Given the description of an element on the screen output the (x, y) to click on. 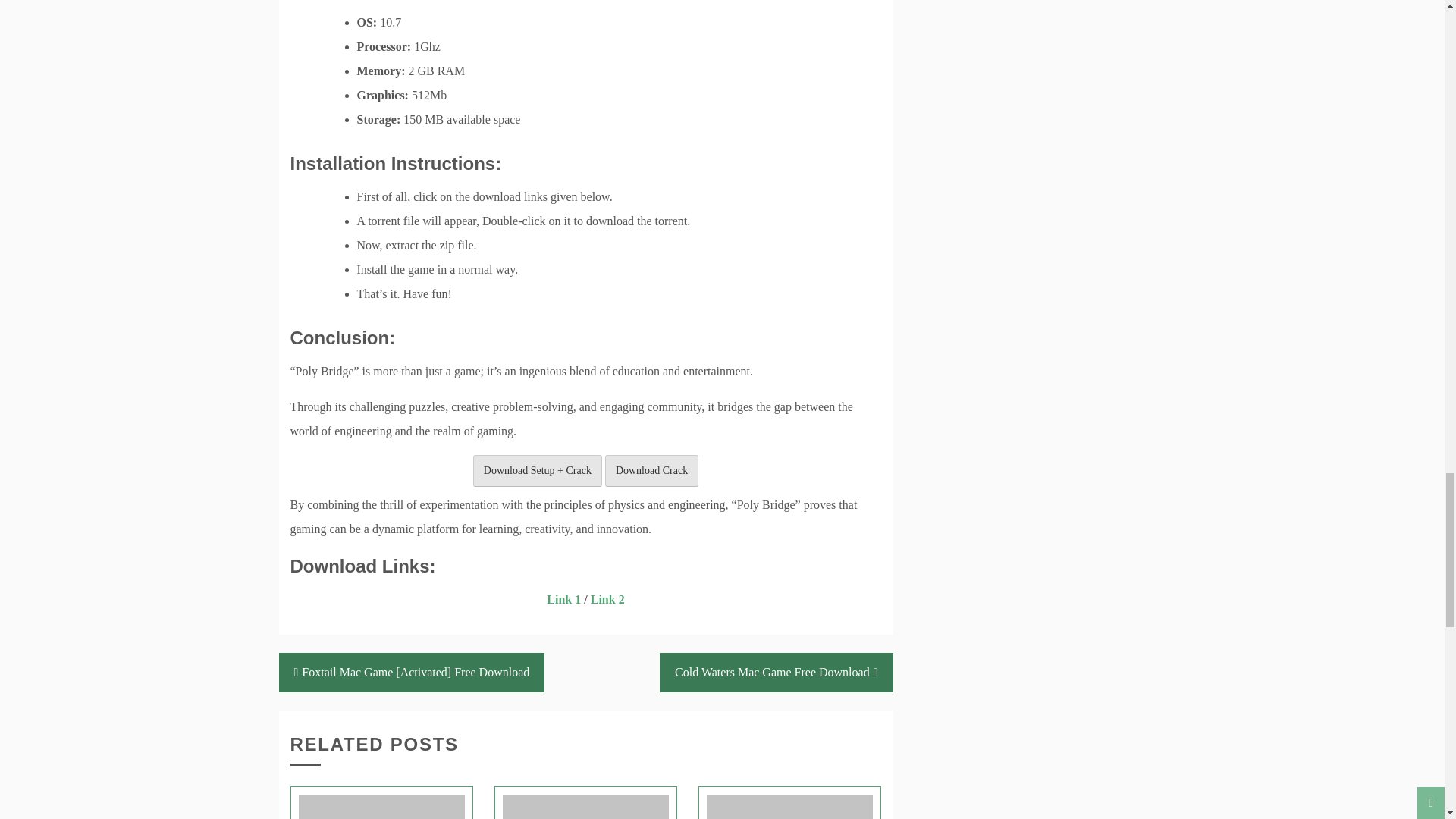
Link 1 (563, 599)
Download Crack (651, 470)
Cold Waters Mac Game Free Download (775, 671)
Link 2 (607, 599)
